Given the description of an element on the screen output the (x, y) to click on. 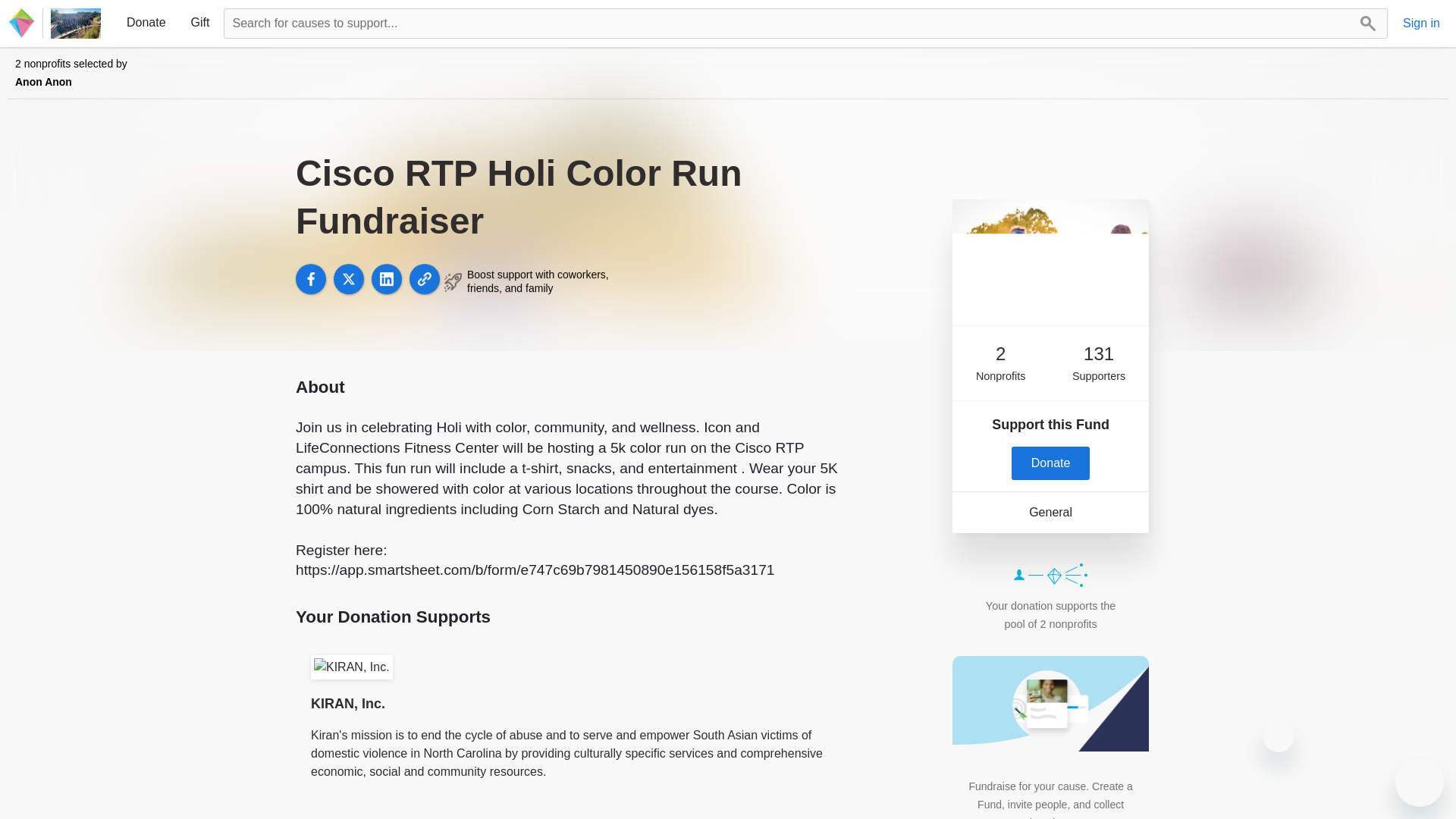
Gift (200, 22)
Sign in (1421, 23)
Donate (146, 22)
Donate (1050, 462)
